Given the description of an element on the screen output the (x, y) to click on. 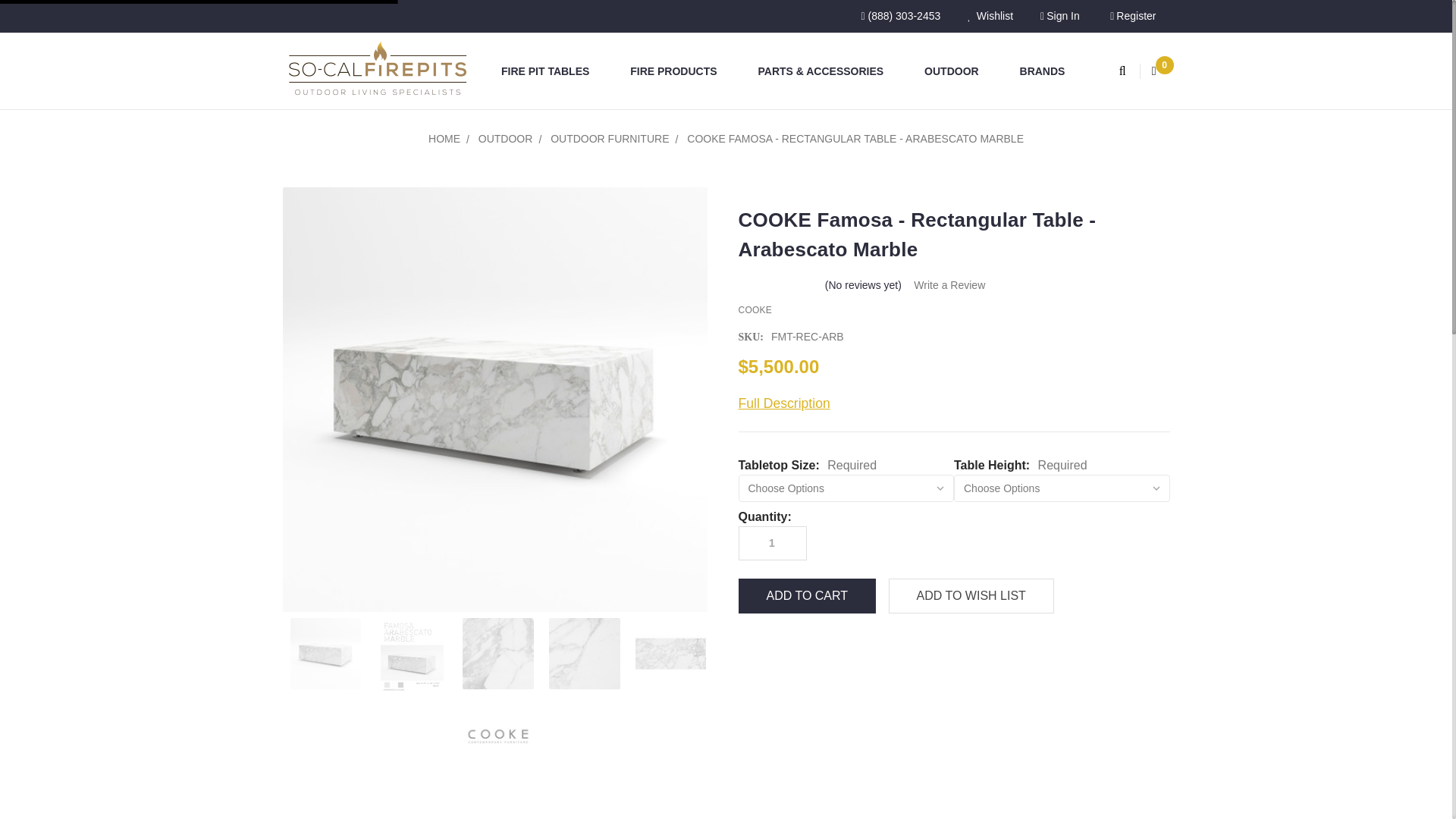
COOKE Famosa - Rectangular Table - Arabescato Marble (584, 653)
Sign In (1059, 16)
Register (1132, 16)
Wishlist (989, 16)
FIRE PIT TABLES (551, 70)
FIRE PRODUCTS (679, 70)
SoCal Fire Pits (376, 70)
1 (771, 542)
Add to Wish list (971, 595)
COOKE Famosa - Rectangular Table - Arabescato Marble (325, 653)
Wishlist (989, 16)
COOKE Famosa - Rectangular Table - Arabescato Marble (498, 653)
COOKE Famosa - Rectangular Table - Arabescato Marble (670, 653)
Add to Cart (807, 595)
